Given the description of an element on the screen output the (x, y) to click on. 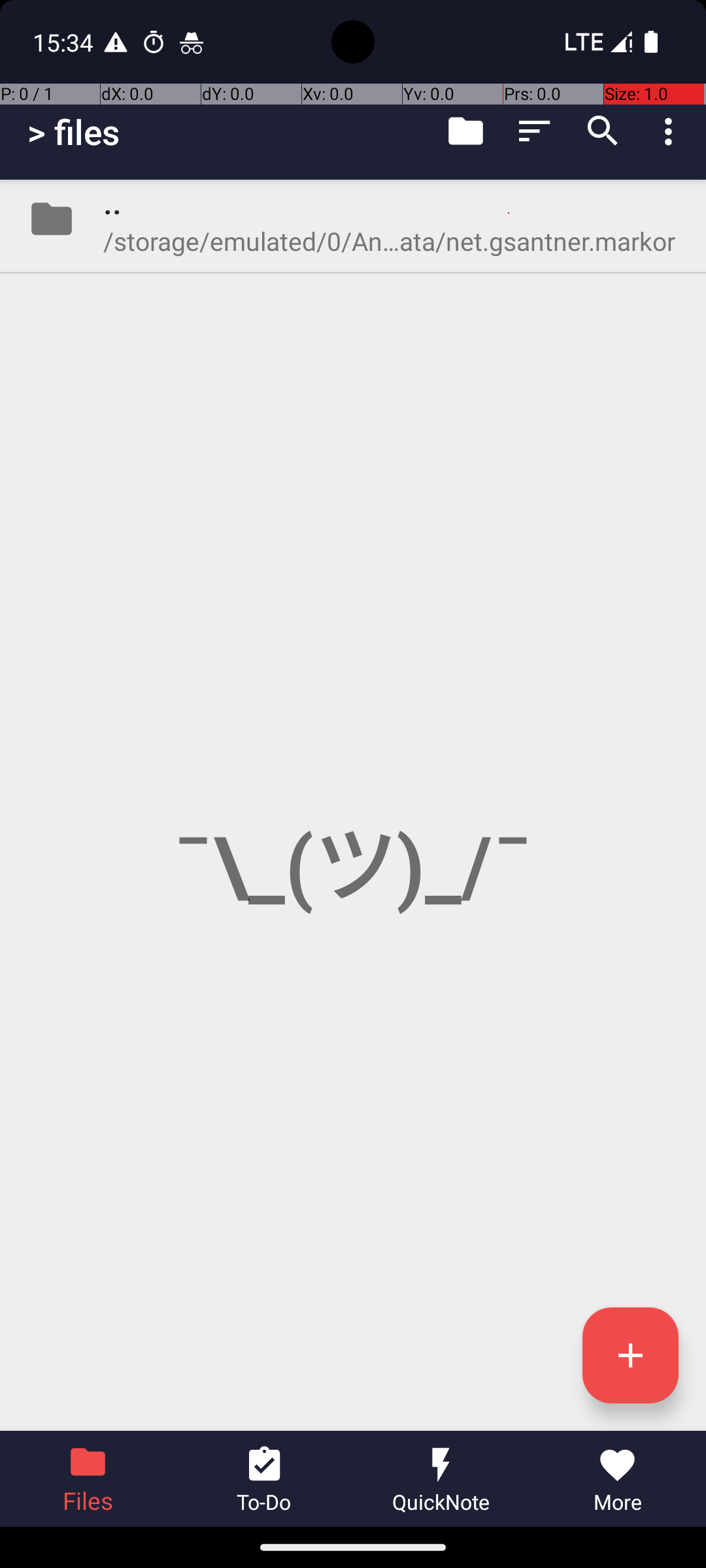
> files Element type: android.widget.TextView (73, 131)
Folder .. /storage/emulated/0/Documents Element type: android.widget.LinearLayout (353, 218)
